Given the description of an element on the screen output the (x, y) to click on. 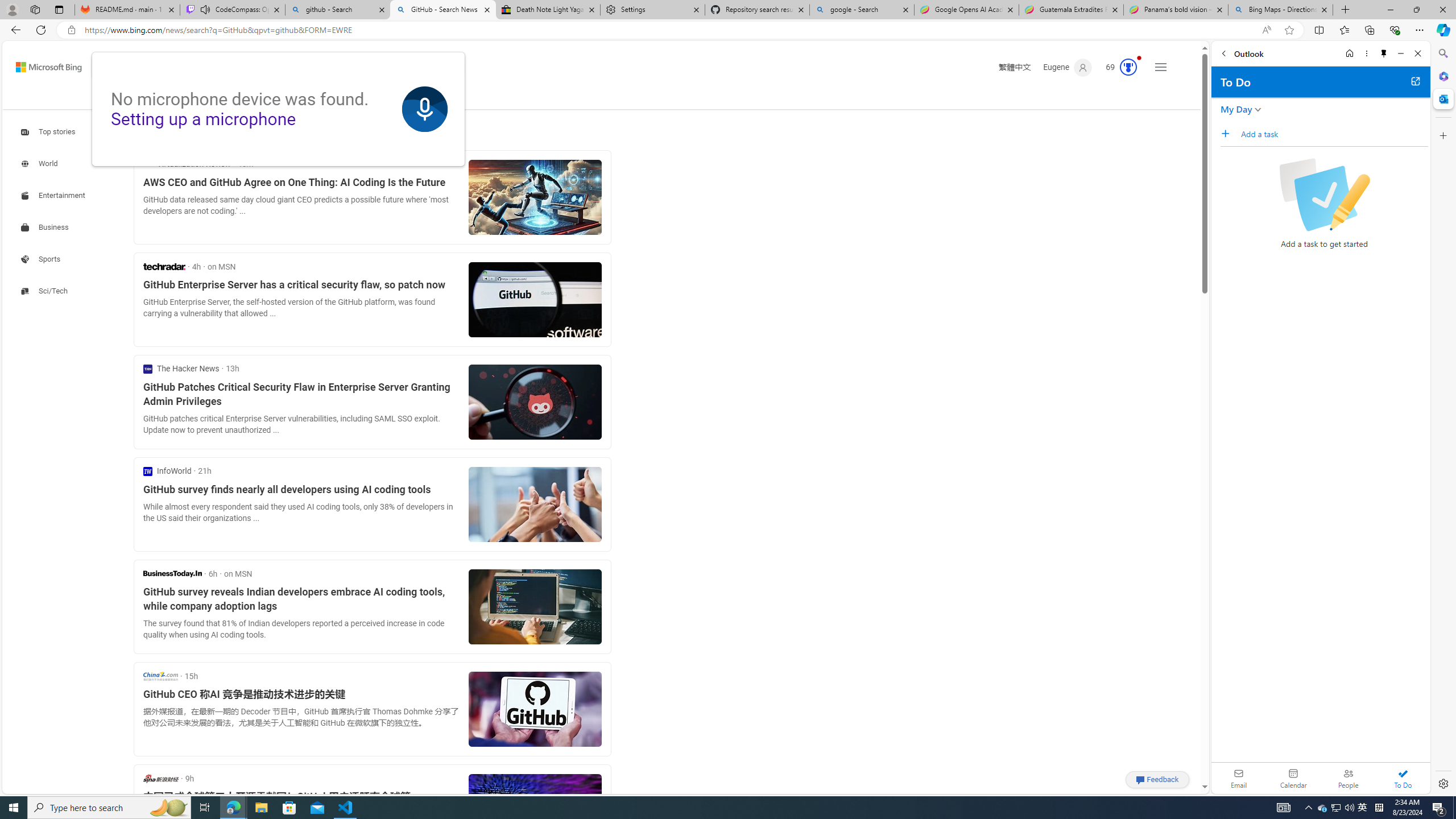
IMAGES (224, 96)
Any time (161, 132)
Search news about Entertainment (54, 195)
